Given the description of an element on the screen output the (x, y) to click on. 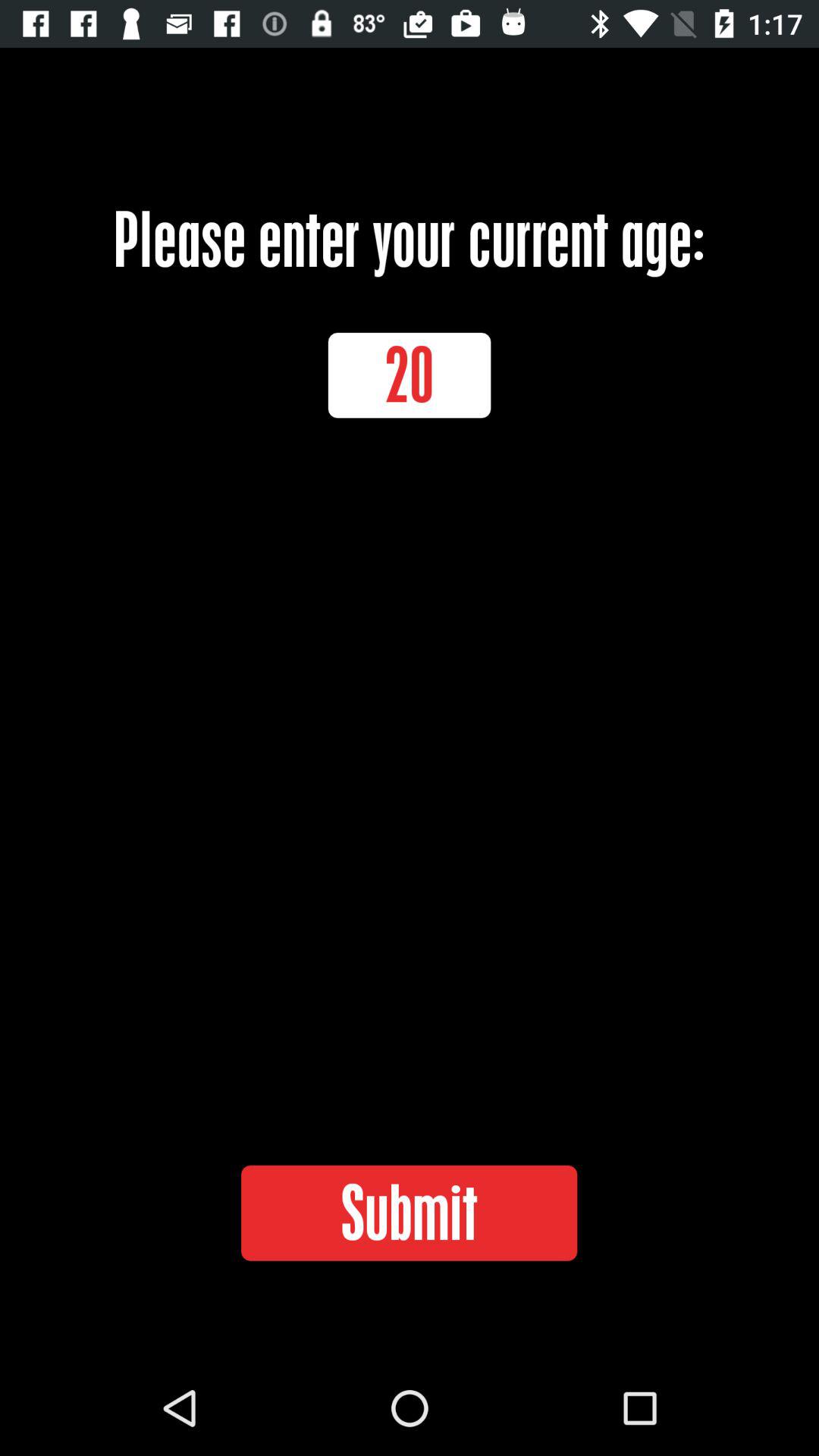
turn on the icon below the 20 item (409, 1212)
